Given the description of an element on the screen output the (x, y) to click on. 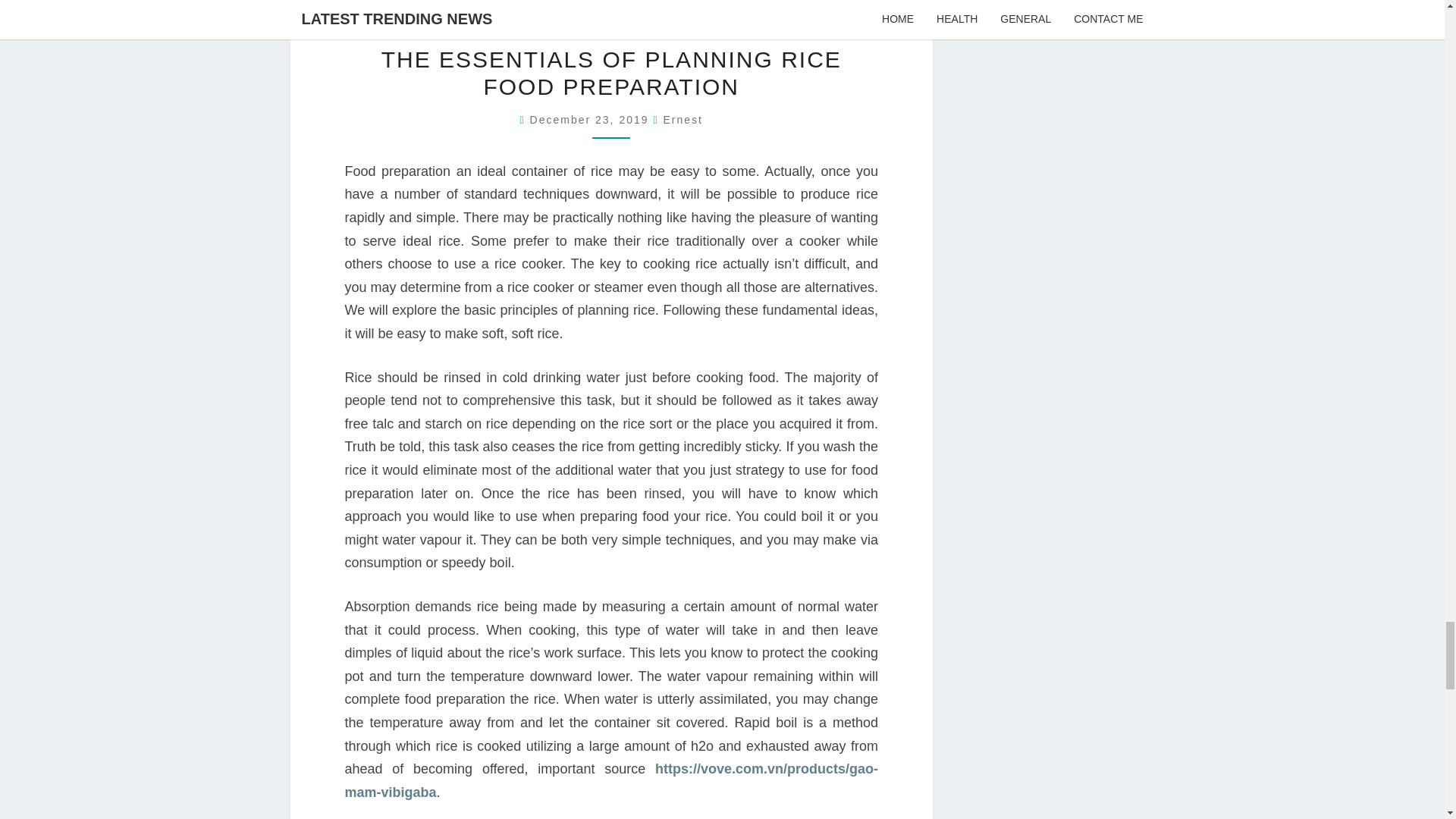
December 23, 2019 (591, 119)
View all posts by Ernest (681, 119)
Ernest (681, 119)
THE ESSENTIALS OF PLANNING RICE FOOD PREPARATION (611, 72)
12:09 pm (591, 119)
